Given the description of an element on the screen output the (x, y) to click on. 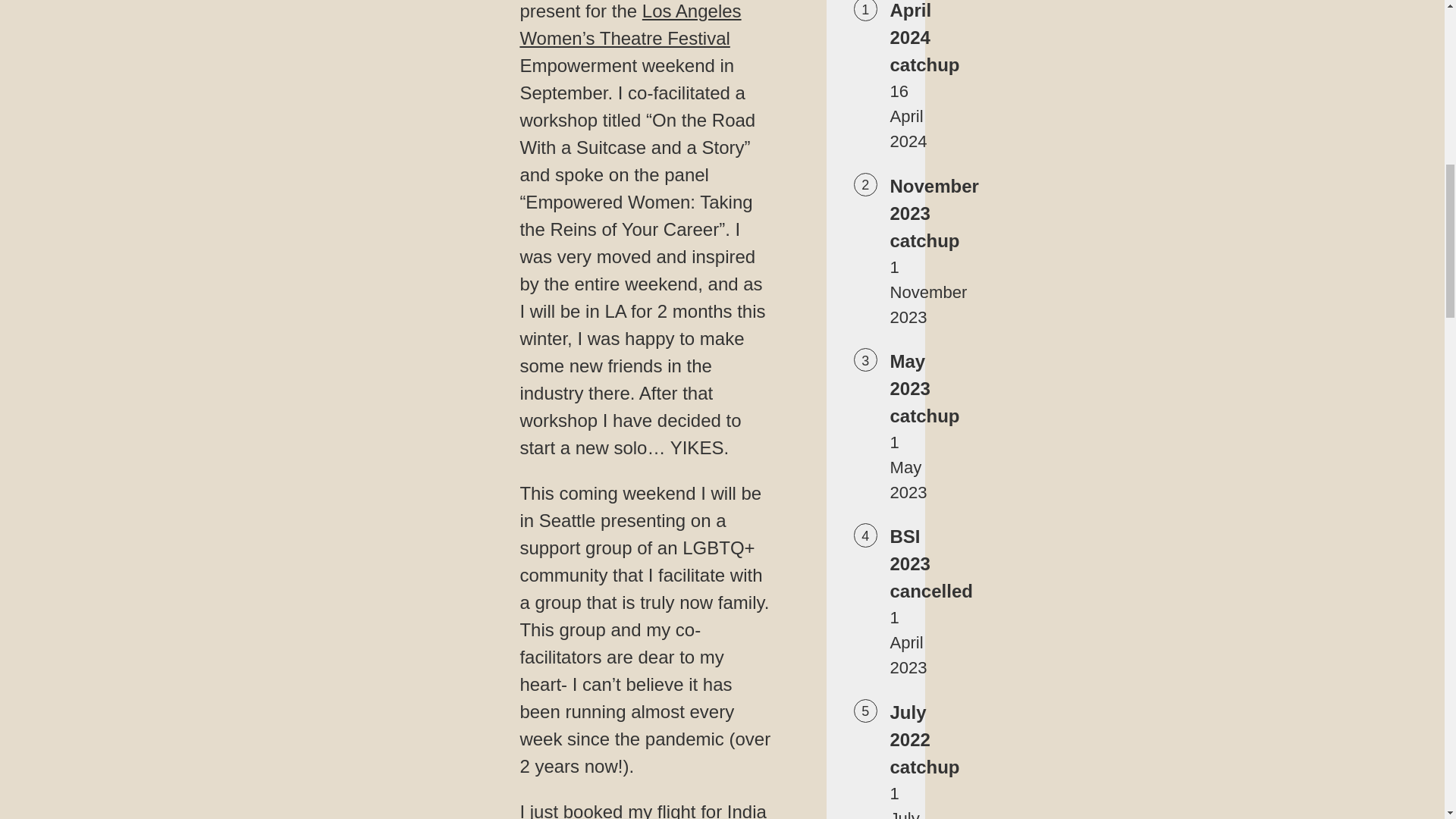
November 2023 catchup (933, 213)
BSI 2023 cancelled (930, 563)
April 2024 catchup (924, 37)
May 2023 catchup (924, 388)
July 2022 catchup (924, 739)
